Given the description of an element on the screen output the (x, y) to click on. 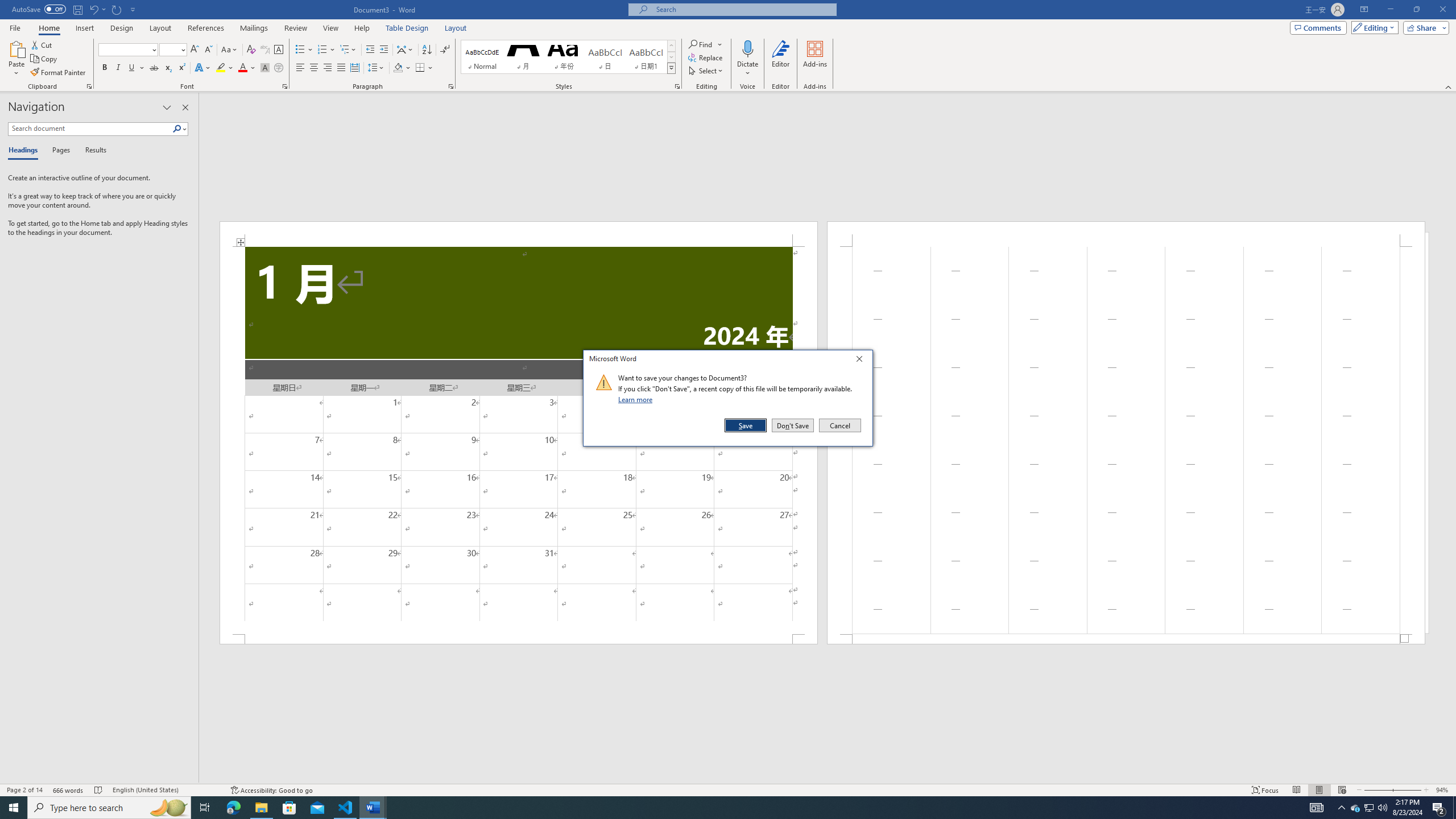
Bullets (300, 49)
Find (705, 44)
Borders (419, 67)
Underline (131, 67)
Font Size (169, 49)
